Given the description of an element on the screen output the (x, y) to click on. 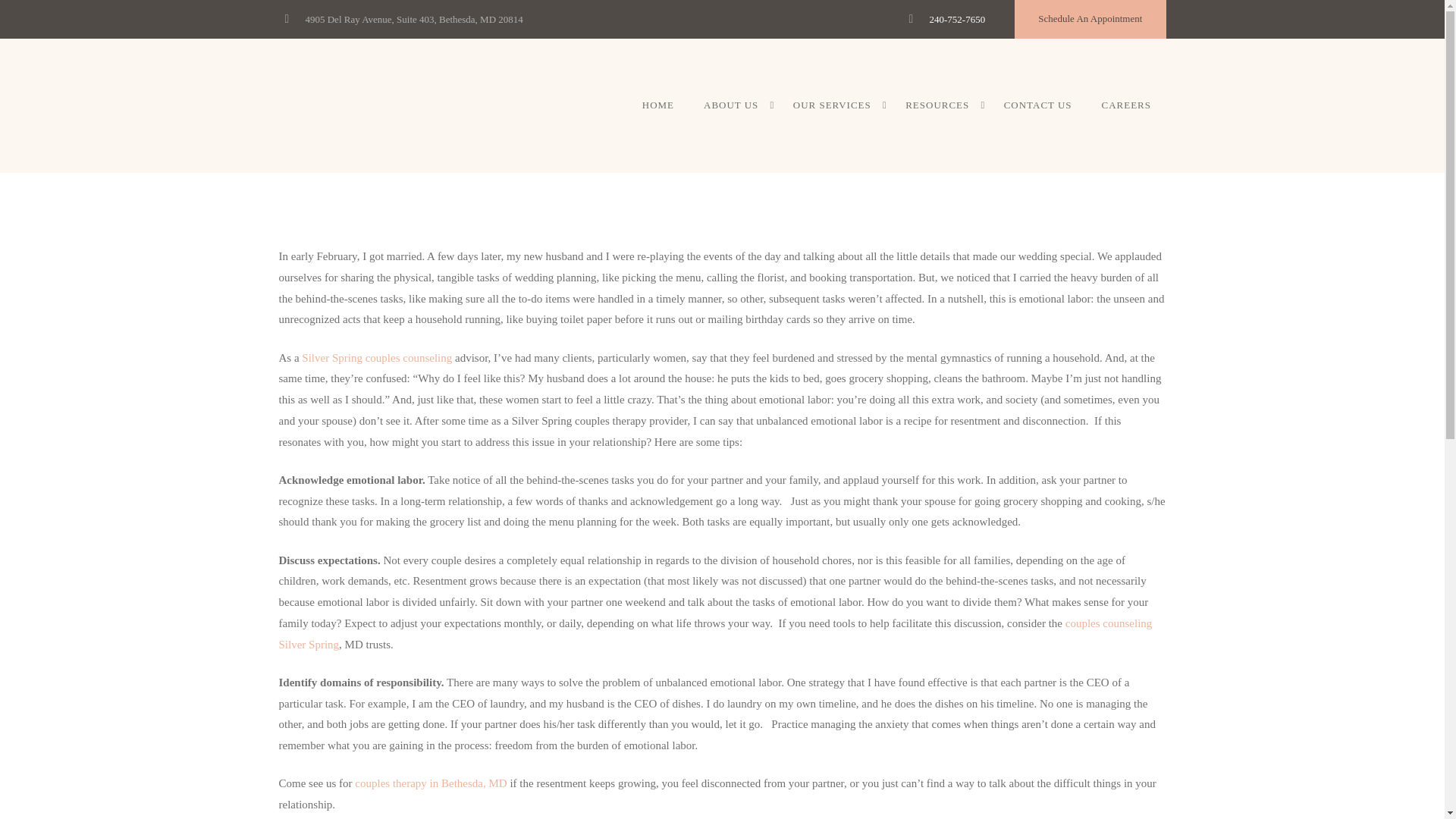
Schedule An Appointment (1089, 19)
HOME (657, 105)
ABOUT US (733, 105)
240-752-7650 (957, 19)
RESOURCES (940, 105)
OUR SERVICES (833, 105)
